Given the description of an element on the screen output the (x, y) to click on. 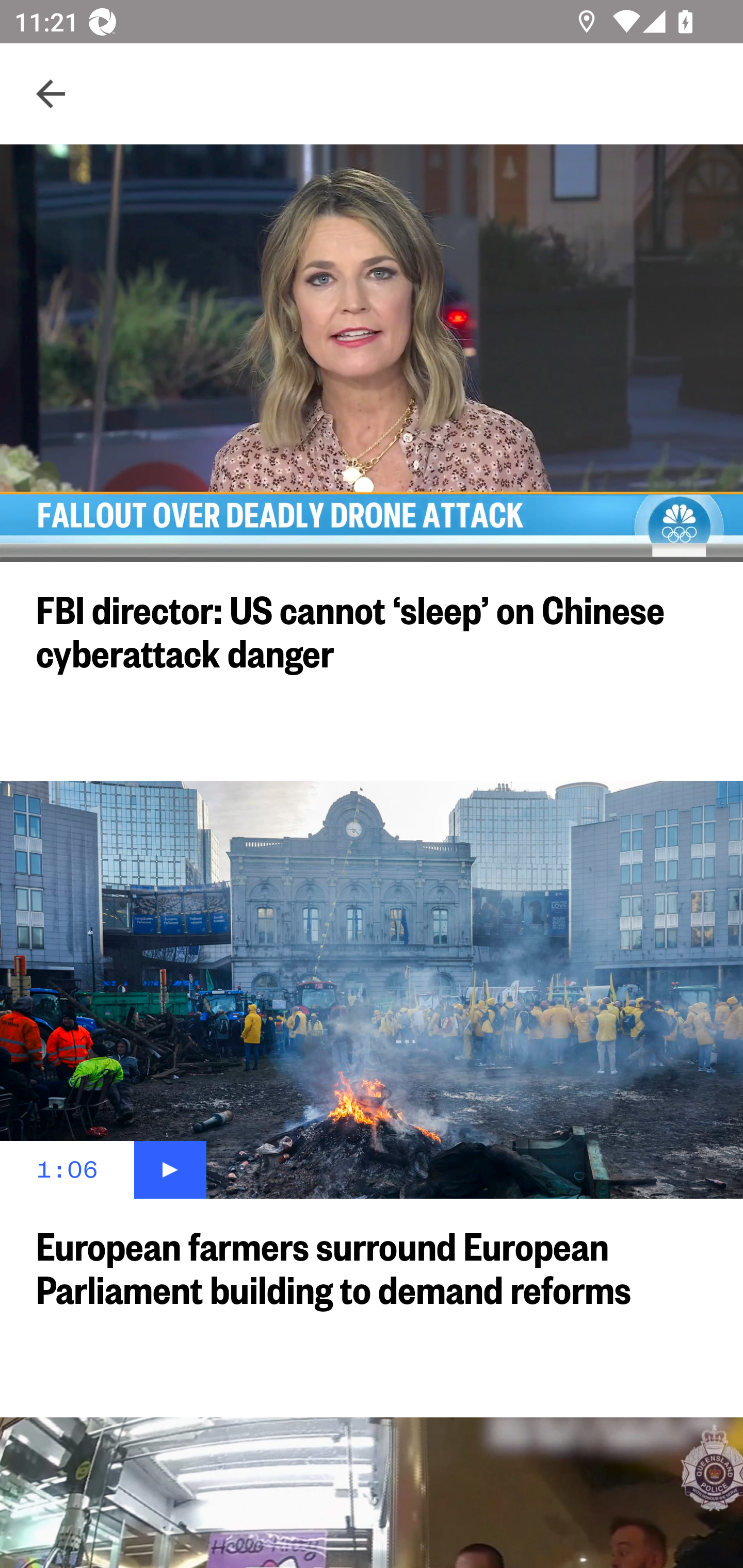
Navigate up (50, 93)
